Given the description of an element on the screen output the (x, y) to click on. 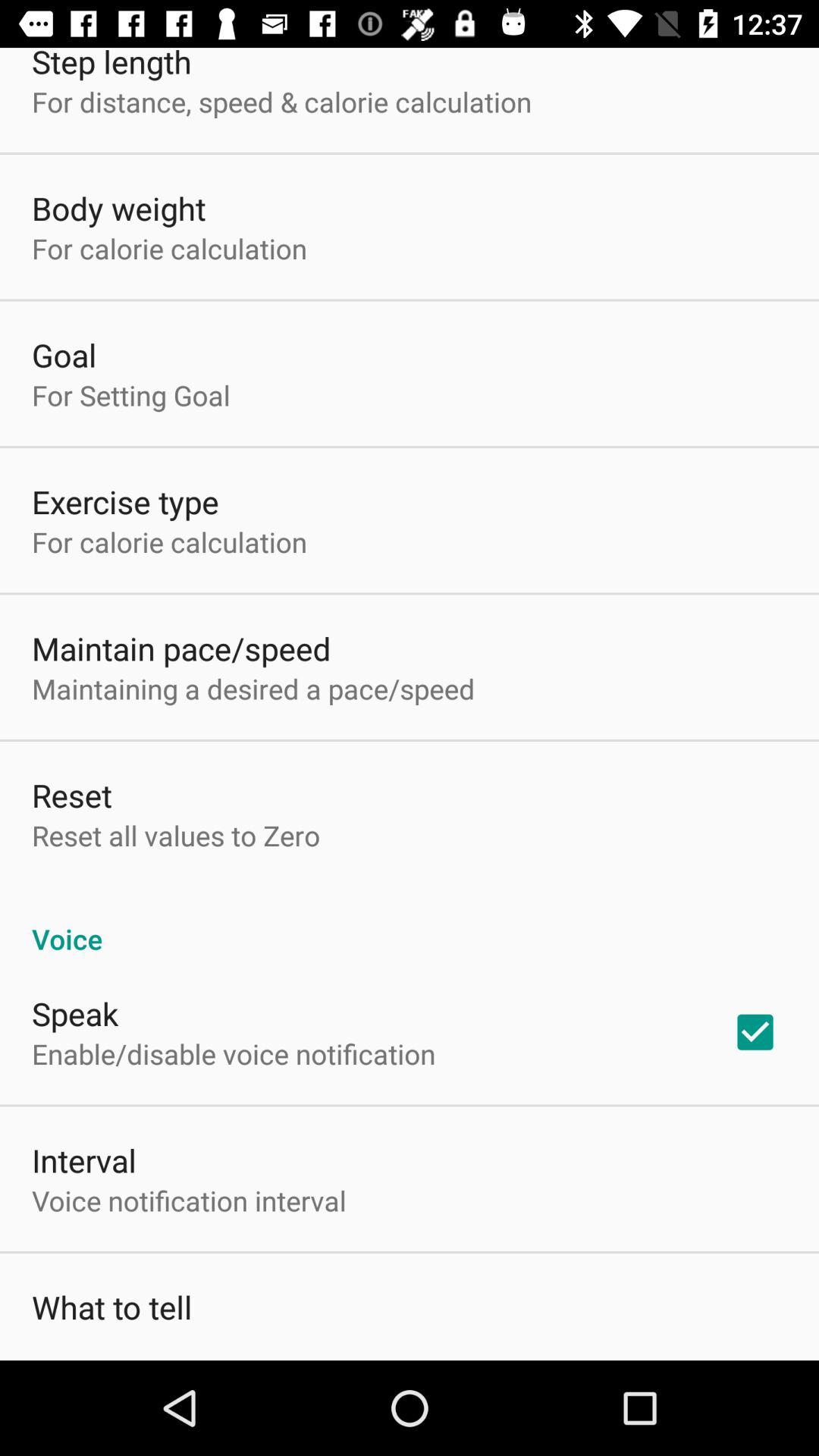
click icon below the voice icon (74, 1013)
